Given the description of an element on the screen output the (x, y) to click on. 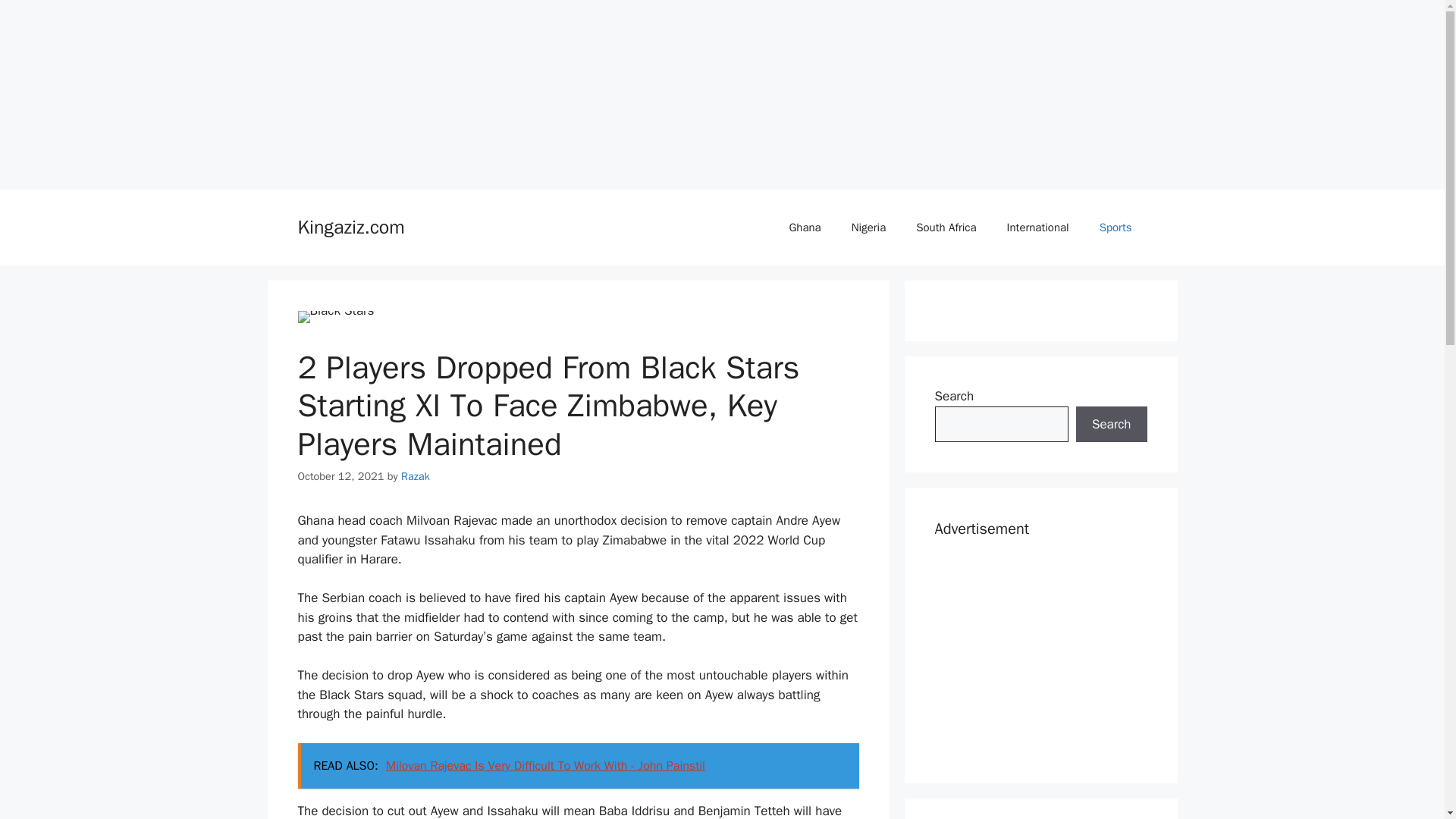
Nigeria (868, 227)
Search (1111, 424)
Ghana (804, 227)
View all posts by Razak (415, 476)
South Africa (946, 227)
Sports (1115, 227)
International (1037, 227)
Kingaziz.com (350, 227)
Razak (415, 476)
